Given the description of an element on the screen output the (x, y) to click on. 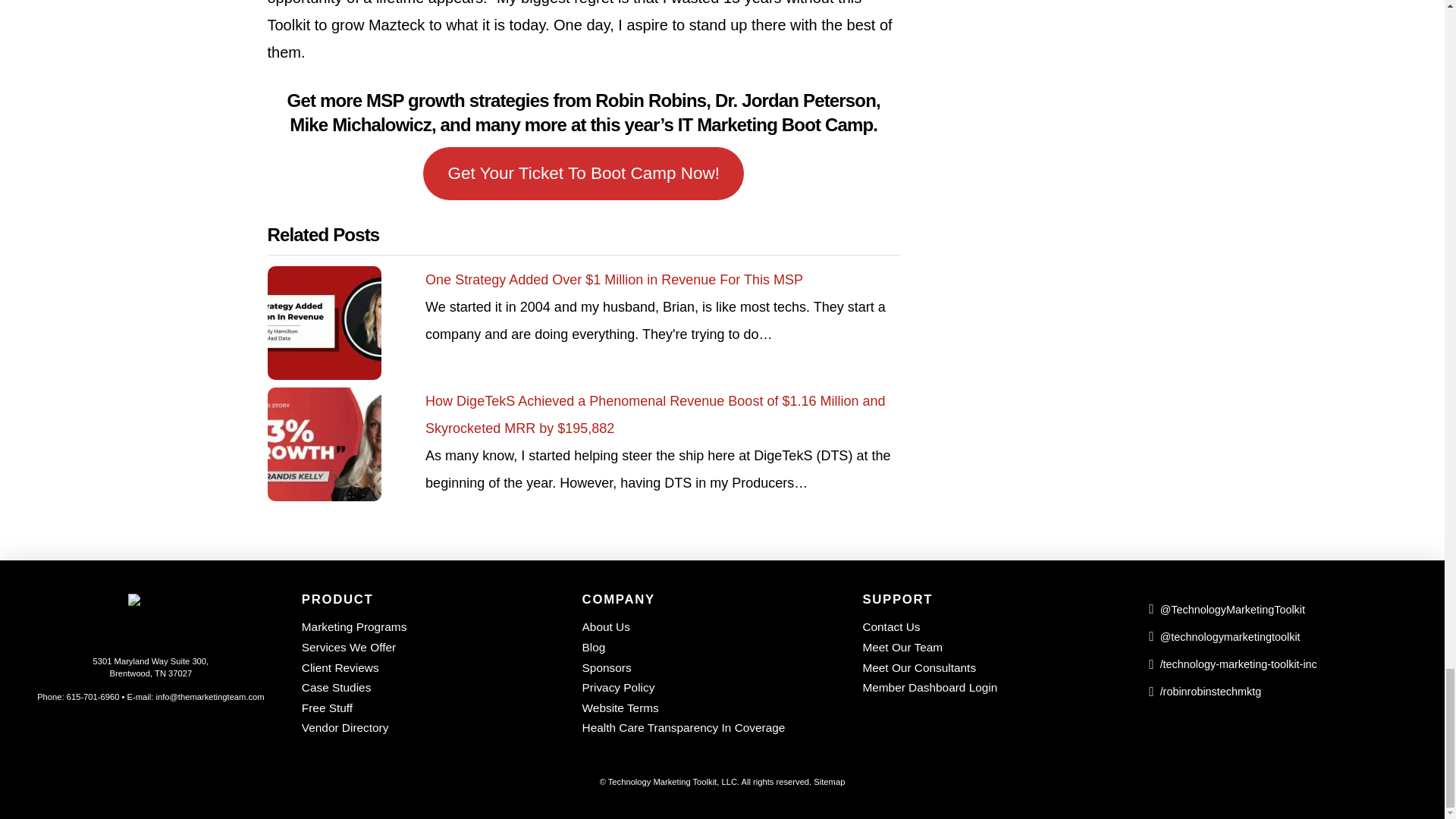
Vendor Directory (430, 728)
Blog (711, 647)
Services We Offer (430, 647)
About Us (711, 627)
Get Your Ticket To Boot Camp Now! (583, 173)
Marketing Programs (430, 627)
Case Studies (430, 688)
Client Reviews (430, 667)
Free Stuff (430, 707)
